Given the description of an element on the screen output the (x, y) to click on. 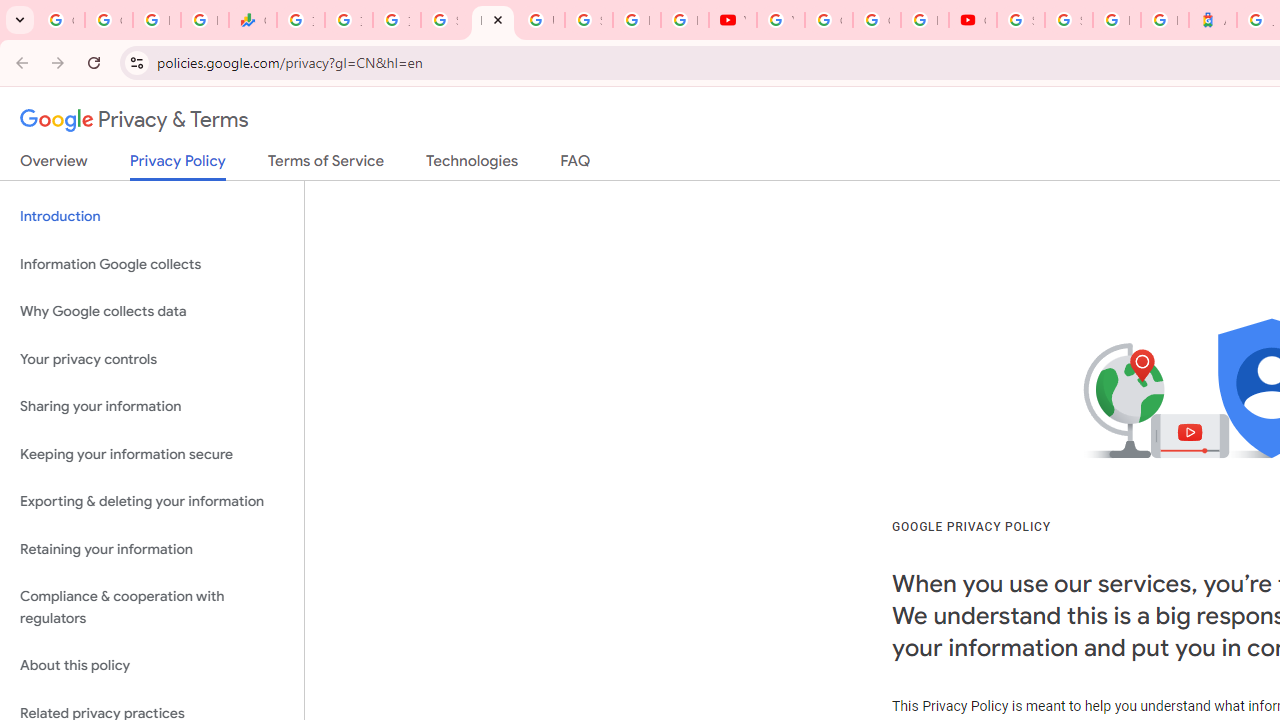
YouTube (780, 20)
Sign in - Google Accounts (444, 20)
